Given the description of an element on the screen output the (x, y) to click on. 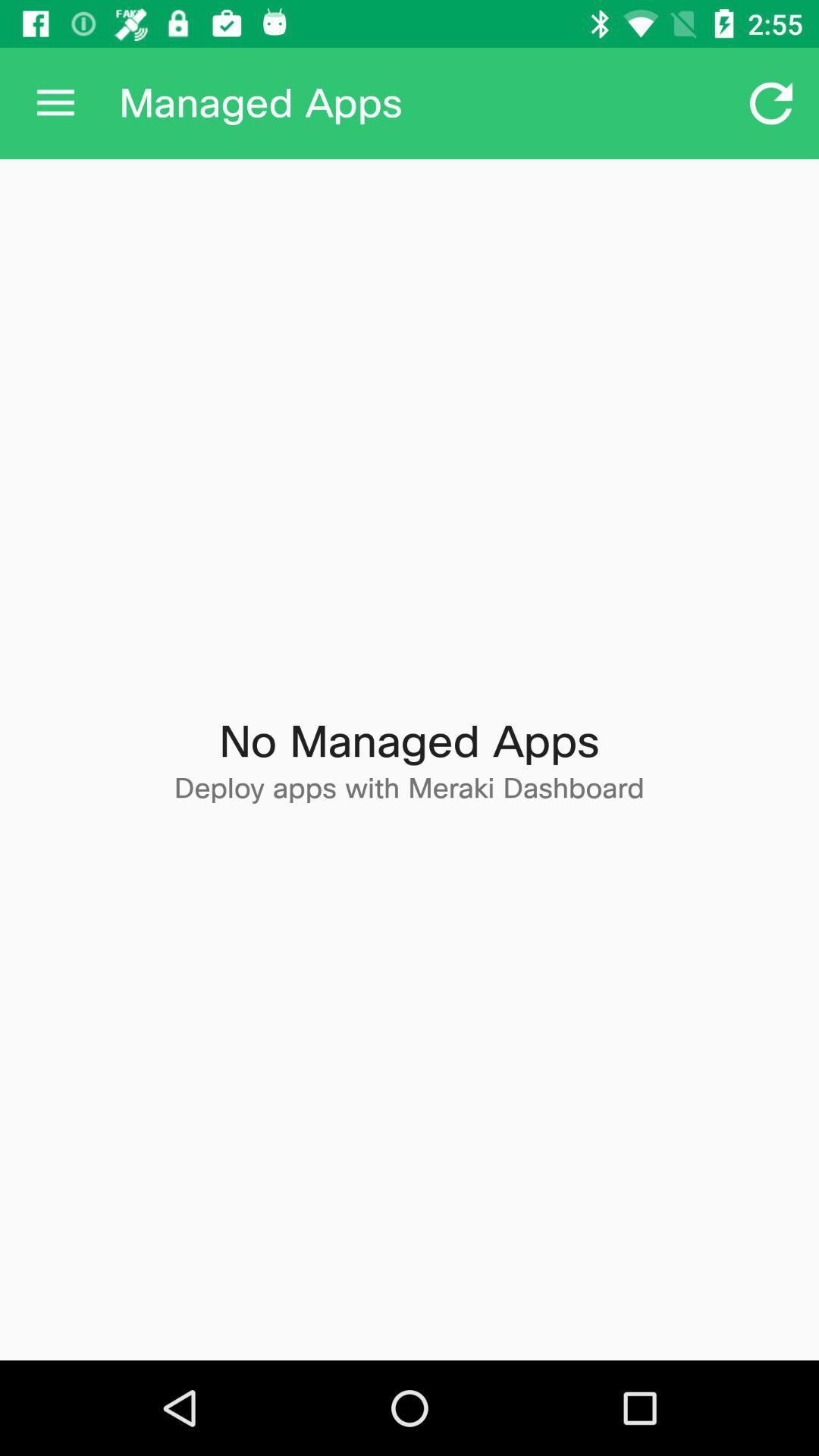
tap the app to the left of the managed apps (55, 103)
